Given the description of an element on the screen output the (x, y) to click on. 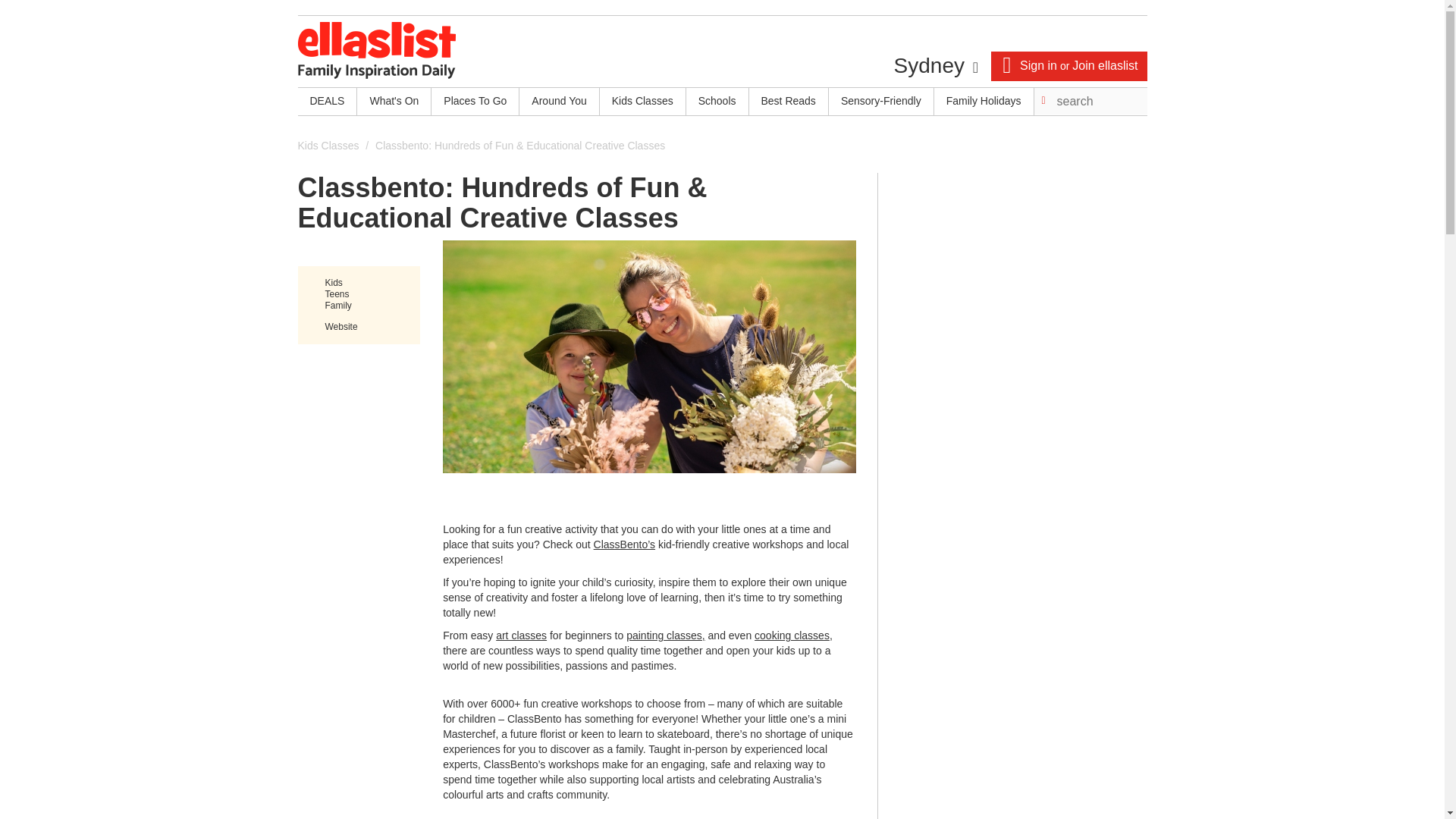
Kids Classes (327, 145)
Schools (716, 101)
Join ellaslist (1104, 65)
painting classes, (665, 635)
Family Holidays (983, 101)
cooking classes (791, 635)
art classes (521, 635)
Around You (558, 101)
Sensory-Friendly (880, 101)
Best Reads (788, 101)
Sydney (935, 65)
Kids Classes (642, 101)
Website (340, 326)
DEALS (326, 101)
What's On (393, 101)
